Given the description of an element on the screen output the (x, y) to click on. 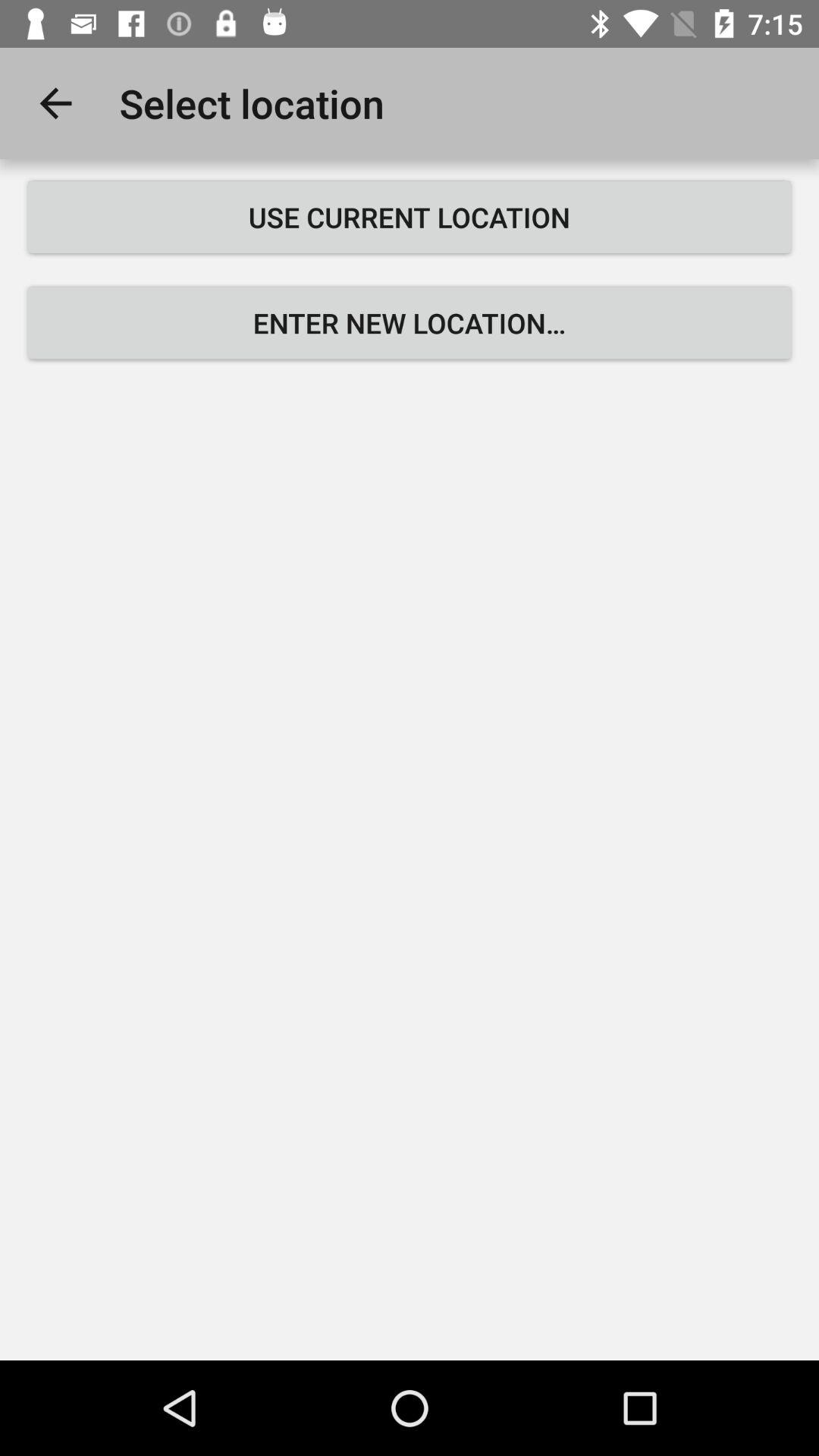
press item above use current location icon (55, 103)
